Given the description of an element on the screen output the (x, y) to click on. 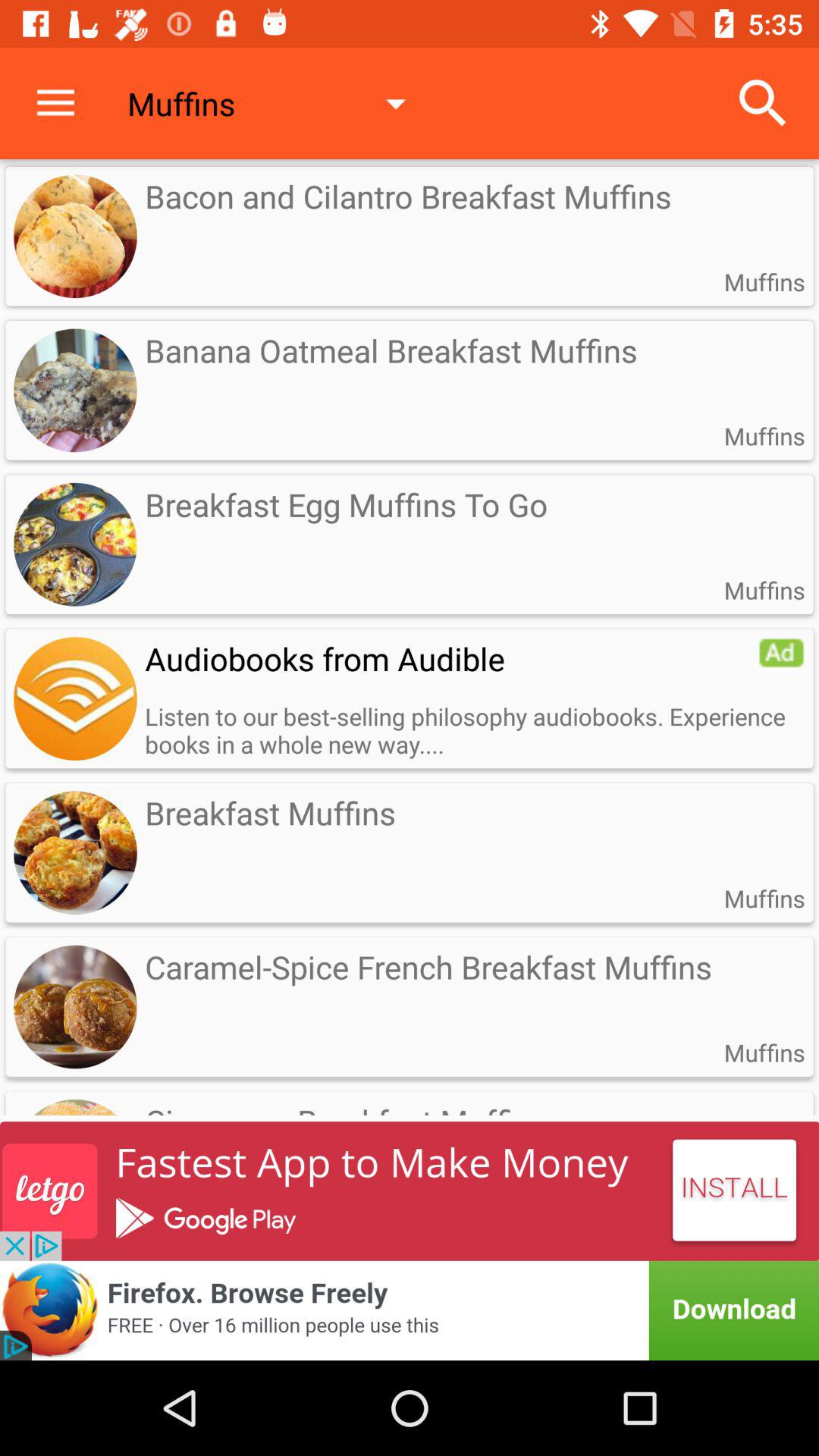
click bottom advertisement (409, 1310)
